Given the description of an element on the screen output the (x, y) to click on. 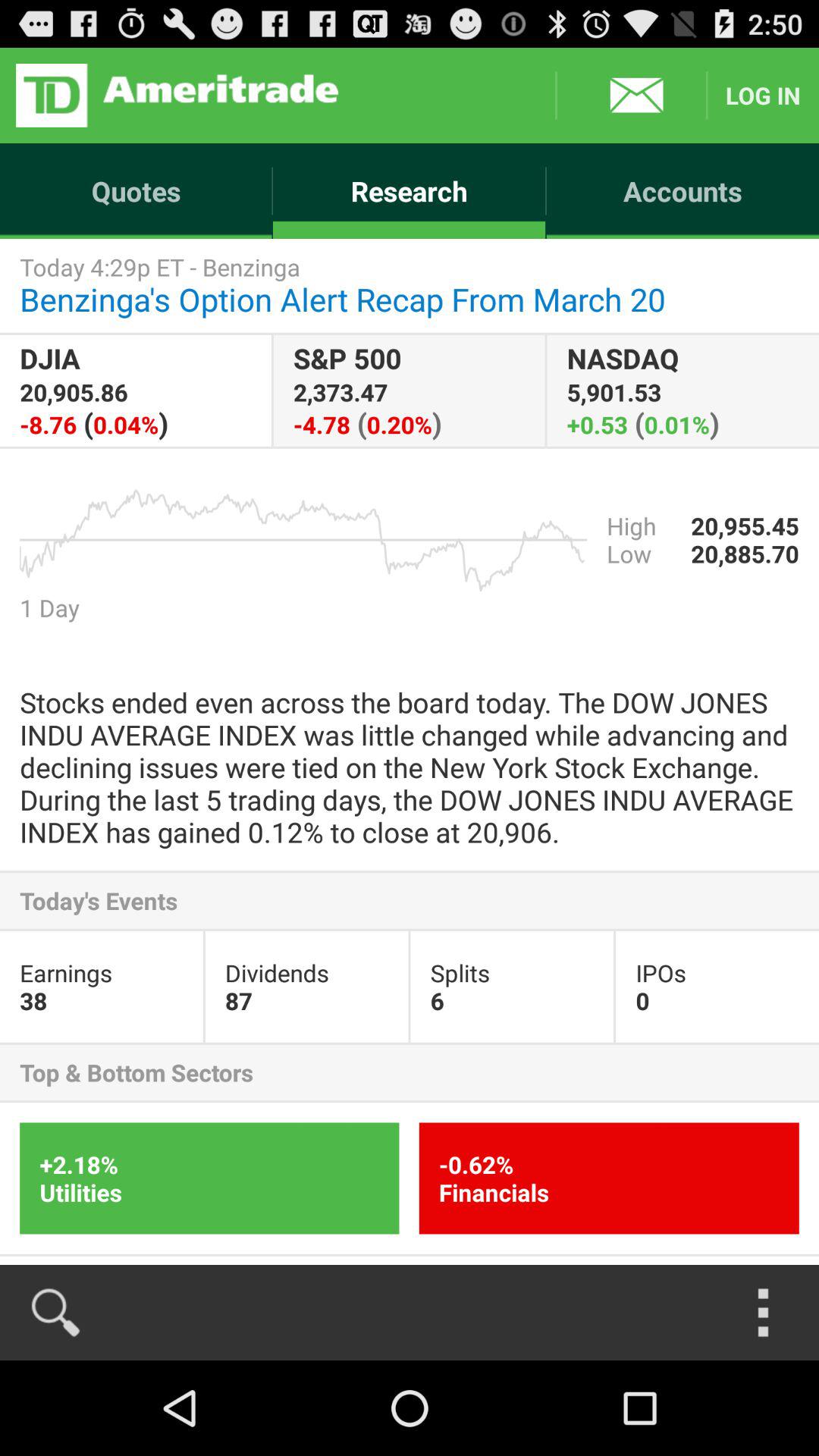
click the item above the accounts icon (763, 95)
